Given the description of an element on the screen output the (x, y) to click on. 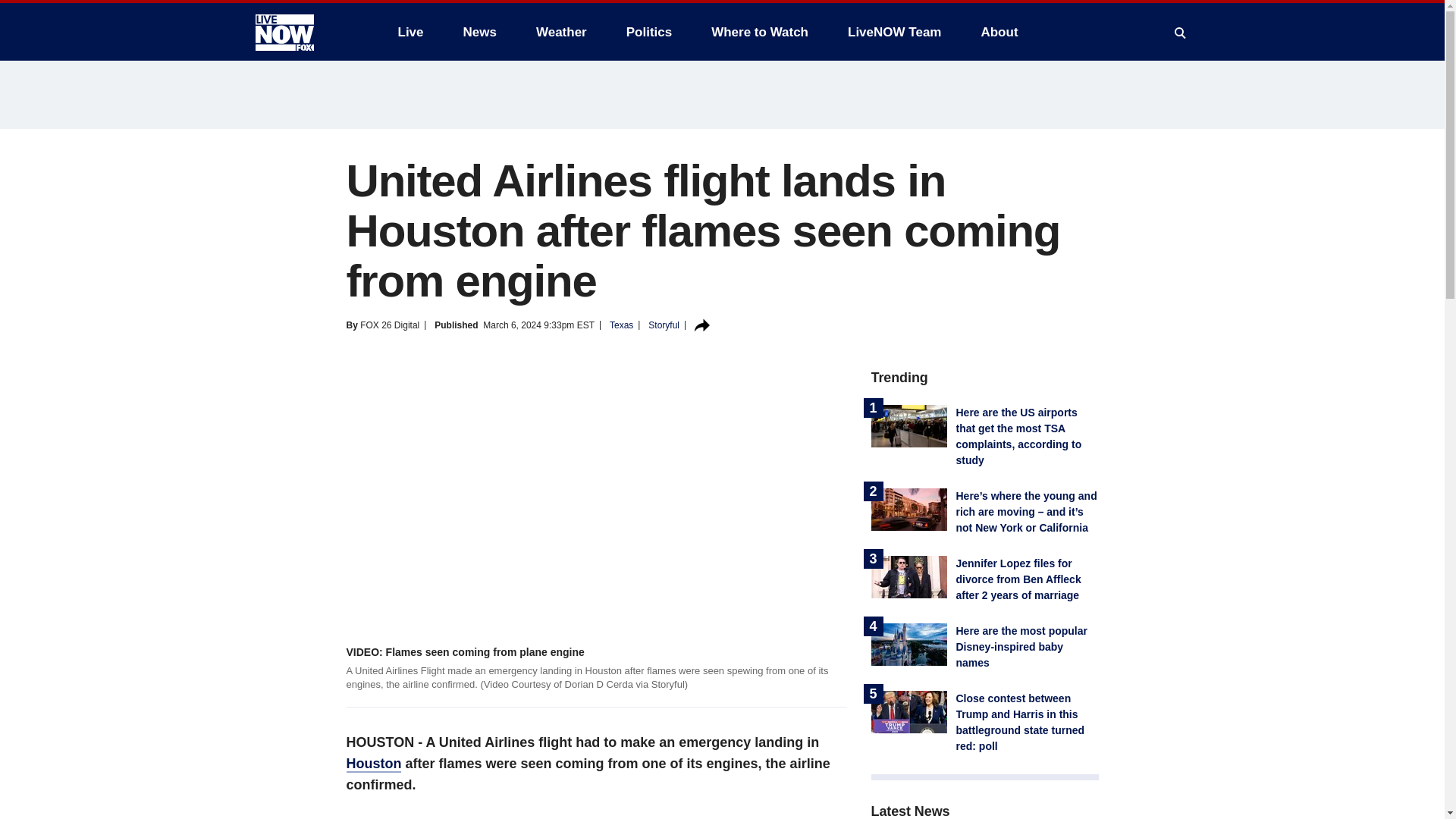
About (998, 32)
Where to Watch (759, 32)
Weather (561, 32)
Politics (649, 32)
Live (410, 32)
LiveNOW Team (894, 32)
News (479, 32)
